Given the description of an element on the screen output the (x, y) to click on. 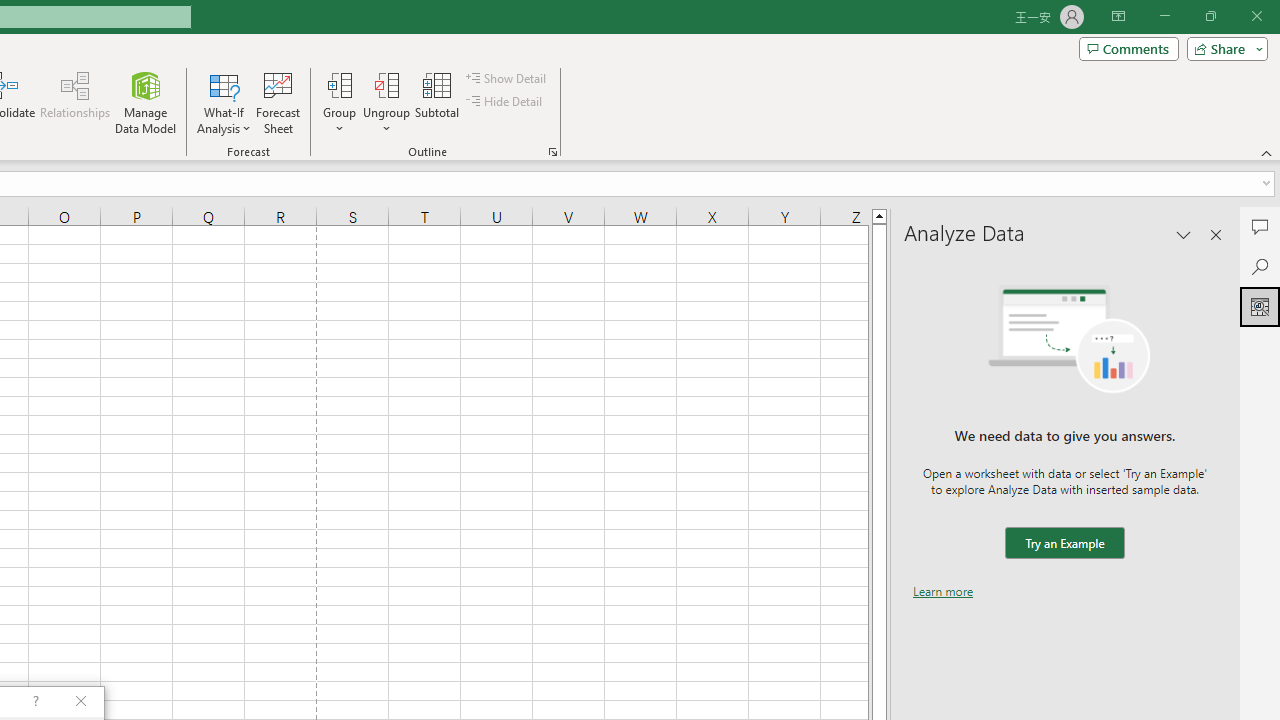
Learn more (943, 591)
Hide Detail (505, 101)
Show Detail (507, 78)
Analyze Data (1260, 306)
Group and Outline Settings (552, 151)
We need data to give you answers. Try an Example (1064, 543)
Task Pane Options (1183, 234)
